Given the description of an element on the screen output the (x, y) to click on. 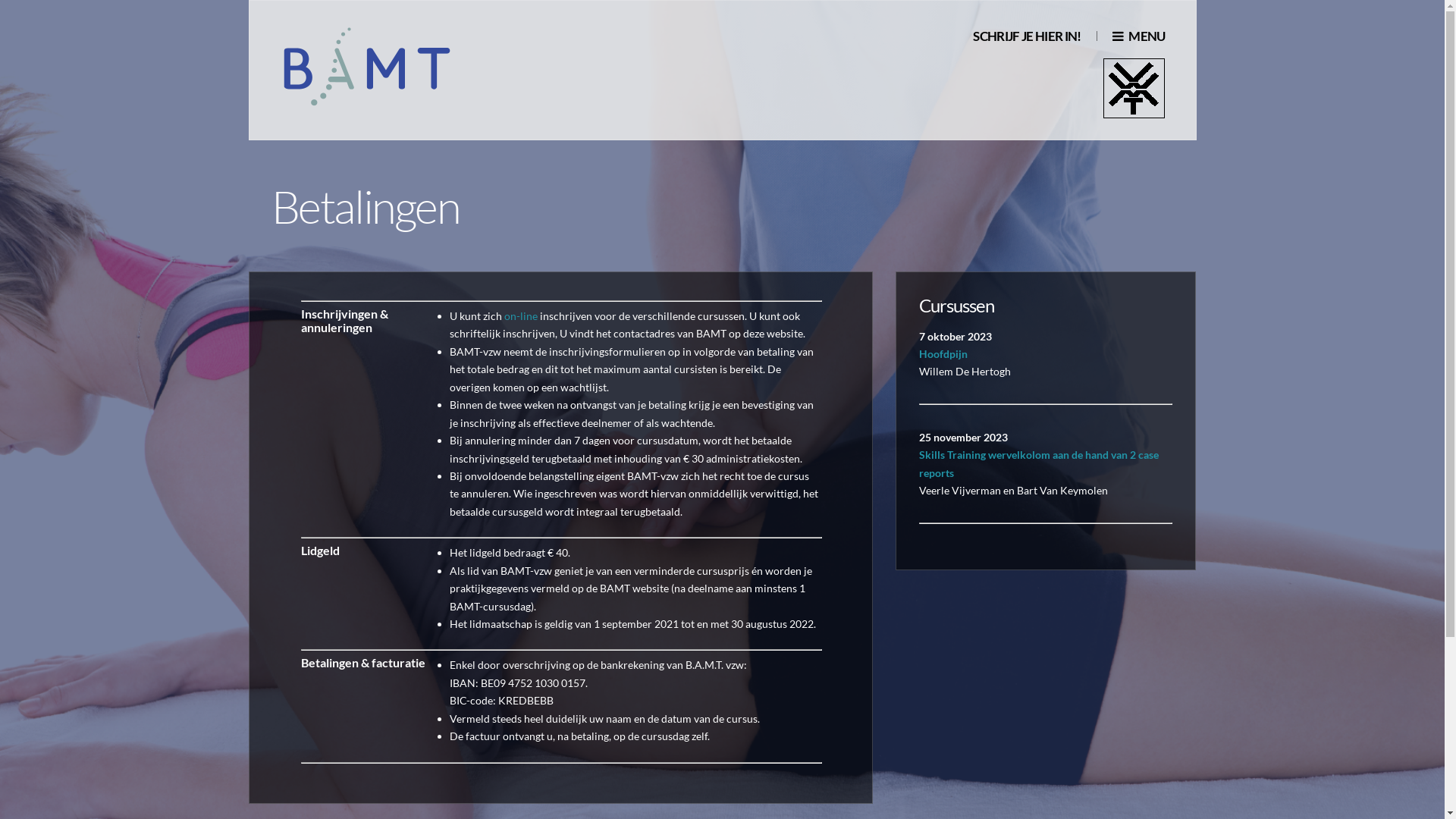
Hoofdpijn Element type: text (943, 353)
MENU Element type: text (1138, 35)
SCHRIJF JE HIER IN! Element type: text (1026, 35)
on-line Element type: text (520, 315)
Skills Training wervelkolom aan de hand van 2 case reports Element type: text (1038, 463)
